Given the description of an element on the screen output the (x, y) to click on. 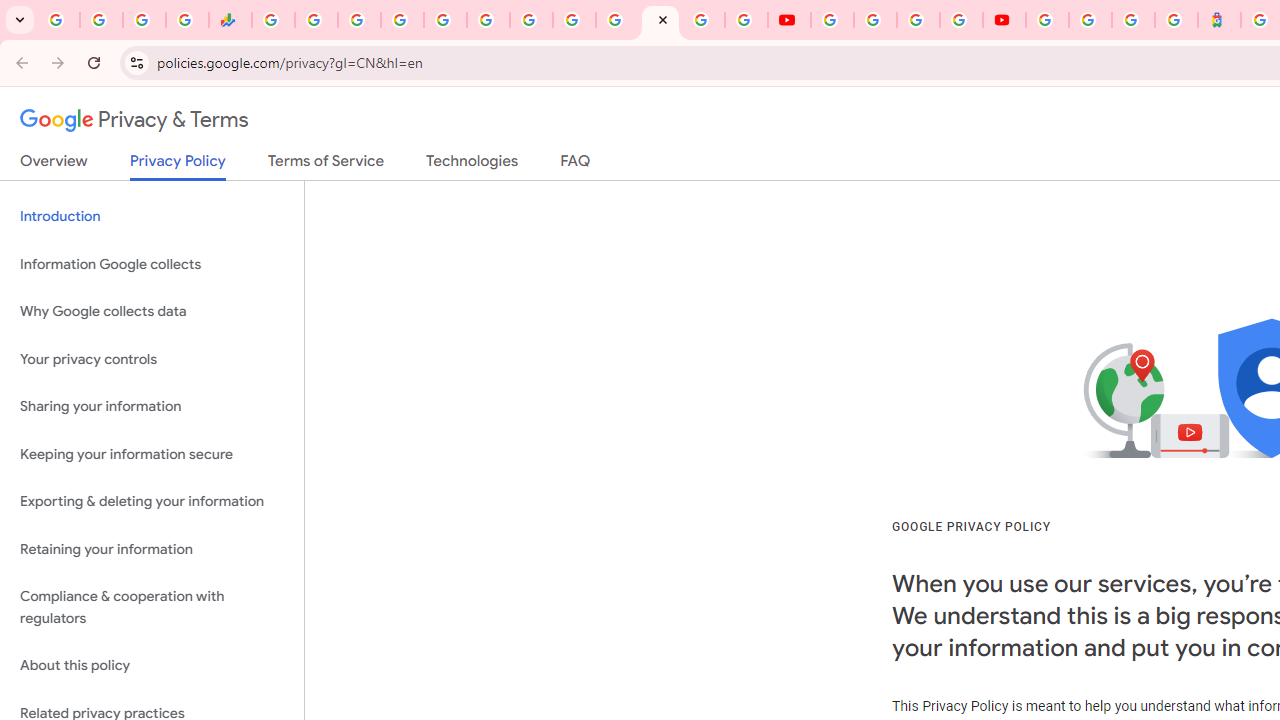
Sharing your information (152, 407)
Sign in - Google Accounts (1090, 20)
Atour Hotel - Google hotels (1219, 20)
Sign in - Google Accounts (1047, 20)
Your privacy controls (152, 358)
Android TV Policies and Guidelines - Transparency Center (530, 20)
